Given the description of an element on the screen output the (x, y) to click on. 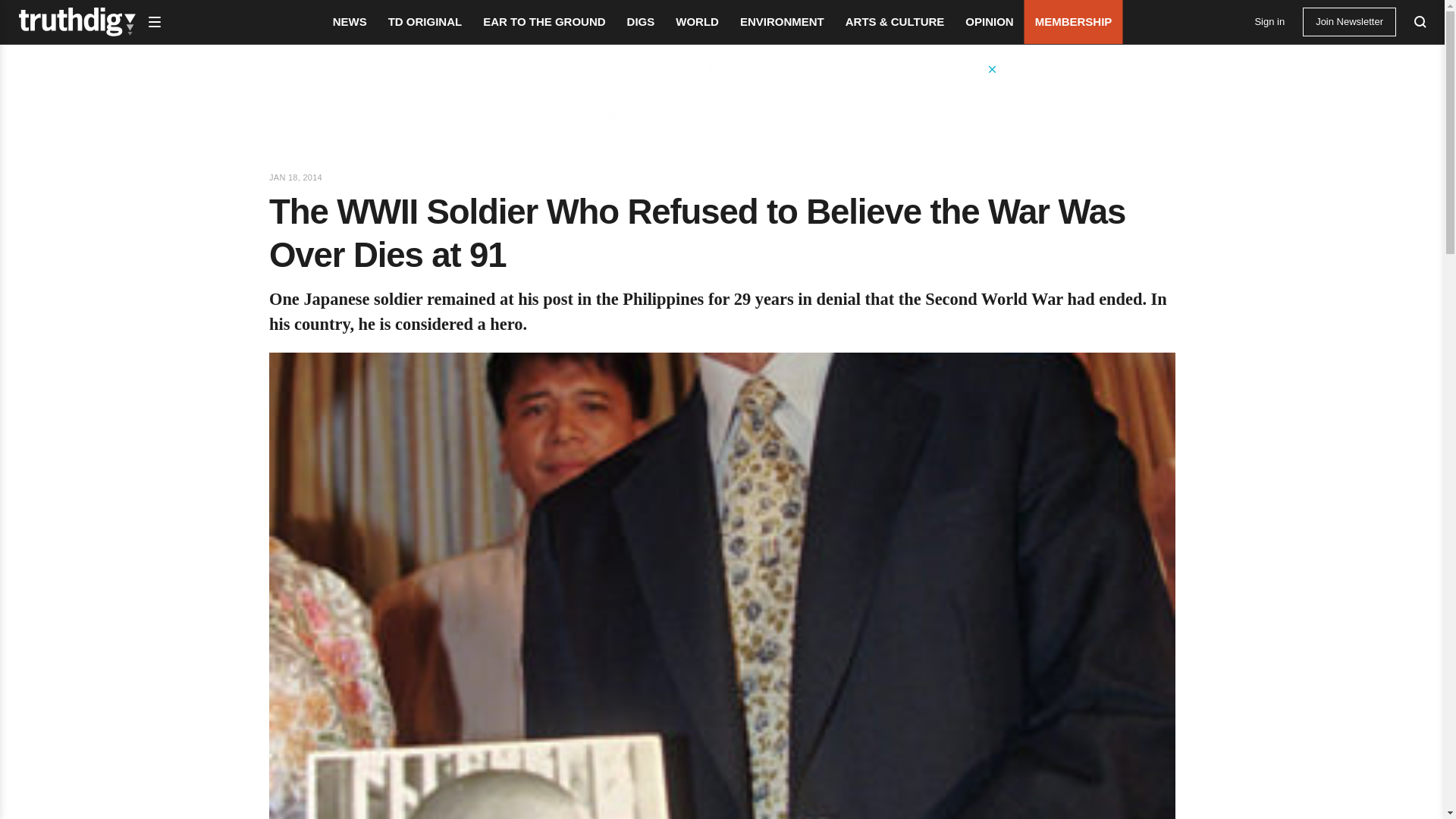
3rd party ad content (721, 97)
